Given the description of an element on the screen output the (x, y) to click on. 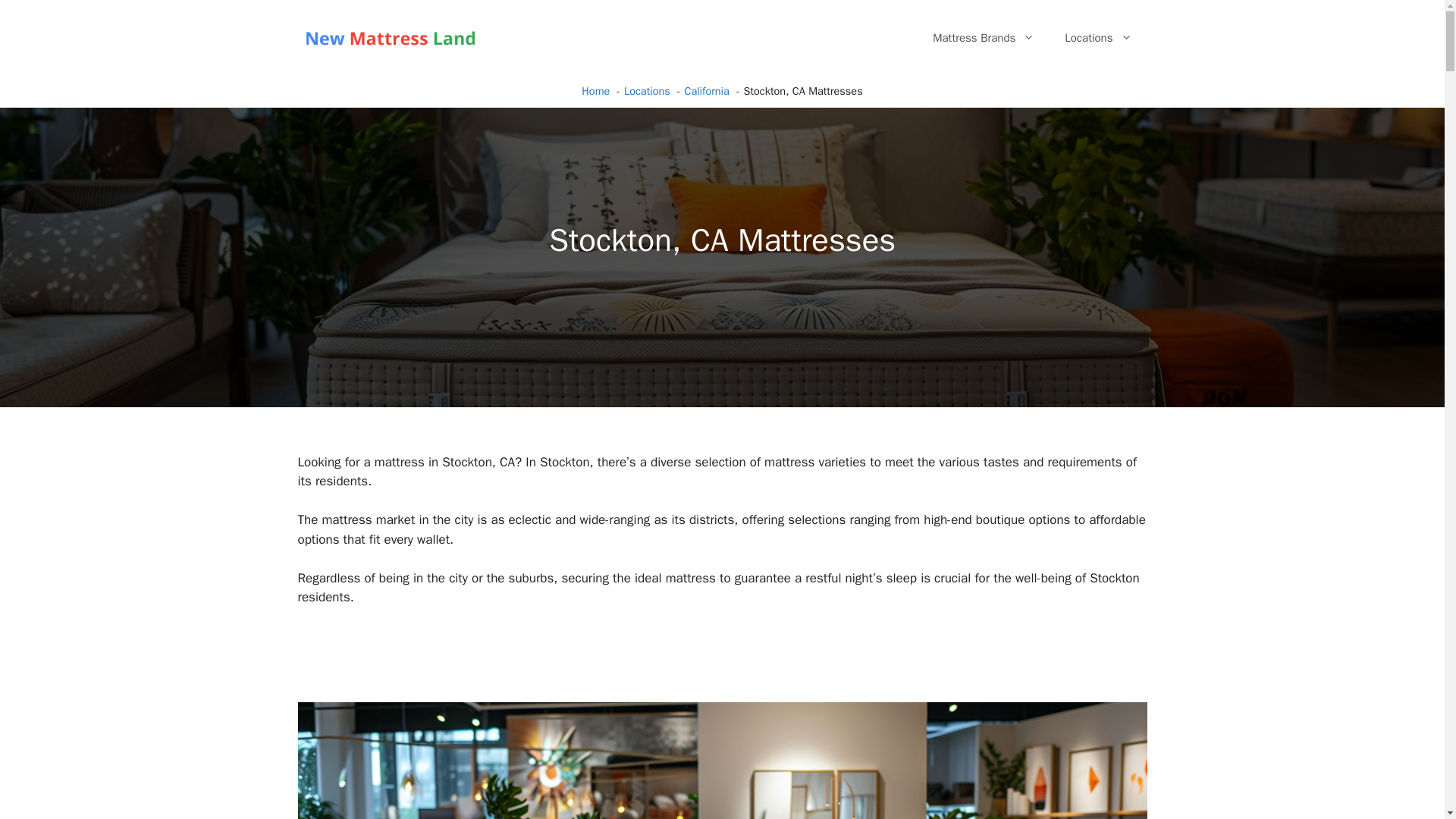
Locations (646, 90)
California (706, 90)
Mattress Brands (983, 37)
Locations (1098, 37)
Home (595, 90)
